Given the description of an element on the screen output the (x, y) to click on. 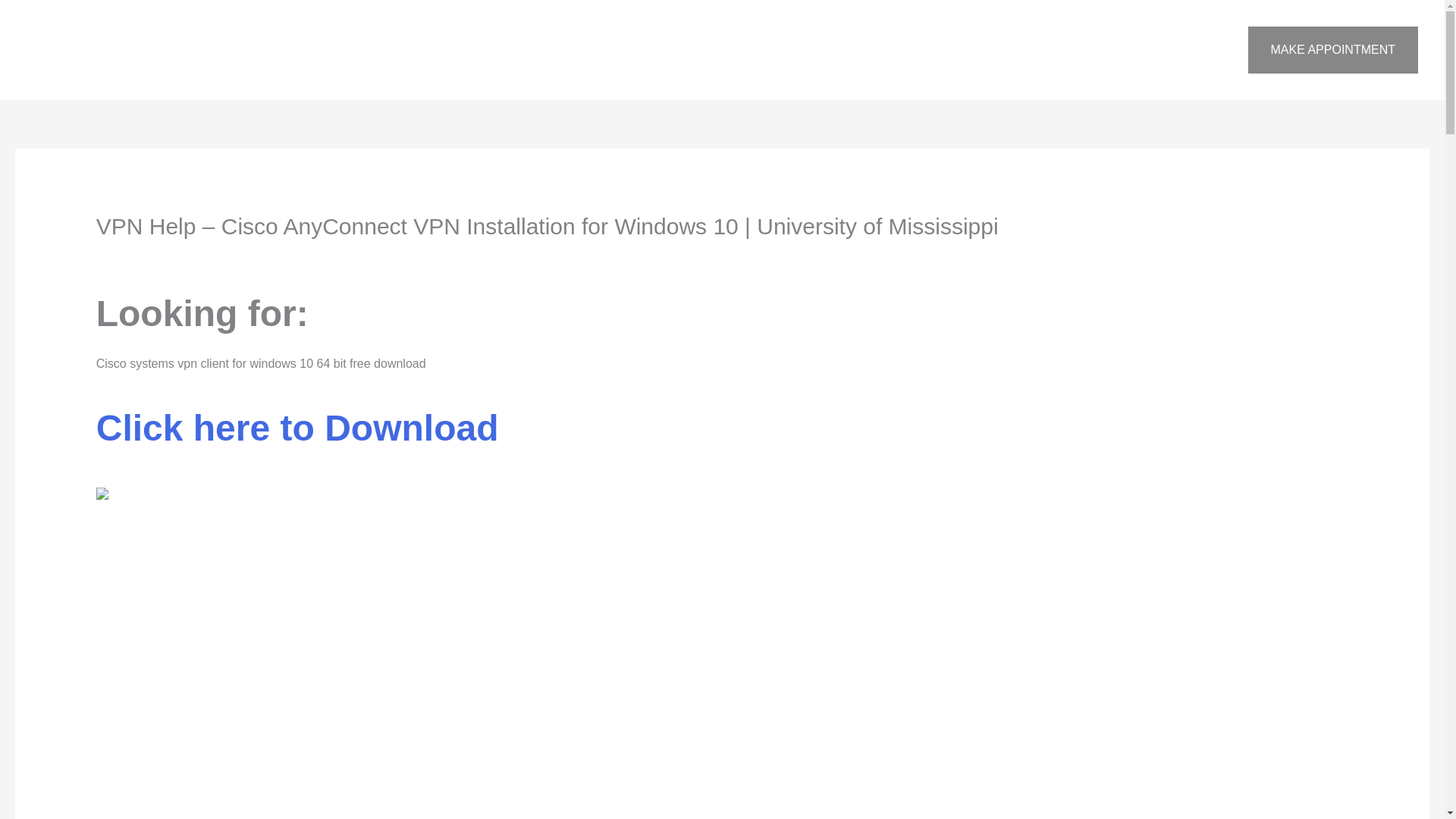
Click here to Download (297, 436)
mcc (216, 256)
CONTACT US (1115, 49)
SERVICES (1021, 49)
BLOGS (1198, 49)
admin (272, 256)
Leave a Comment (145, 256)
HOME (862, 49)
MAKE APPOINTMENT (1332, 49)
View all posts by admin (272, 256)
ABOUT US (936, 49)
